Given the description of an element on the screen output the (x, y) to click on. 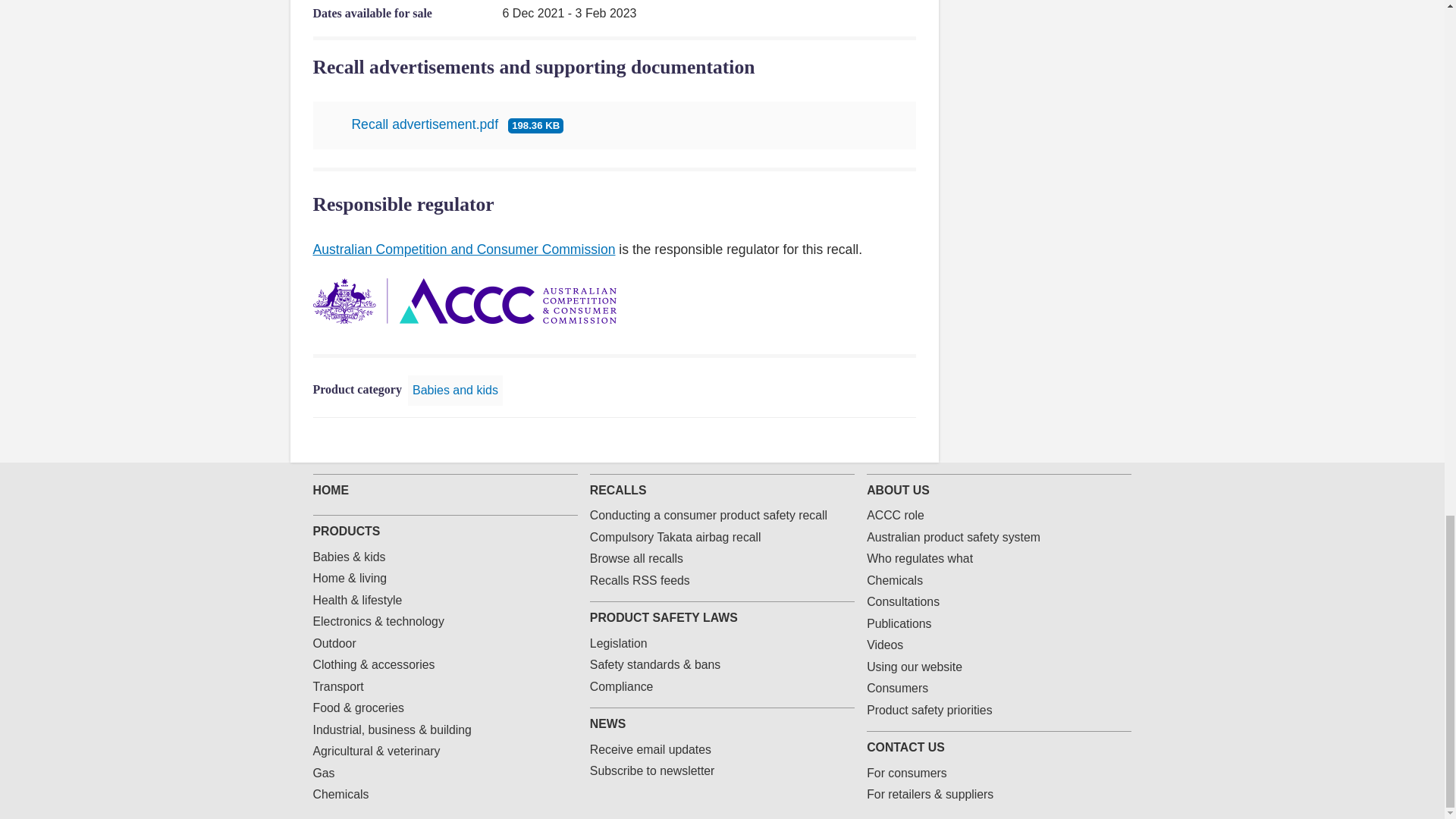
Share on LinkedIn (857, 439)
Print (906, 439)
Email (882, 439)
Share on Twitter (834, 439)
Share on Facebook (809, 439)
